Given the description of an element on the screen output the (x, y) to click on. 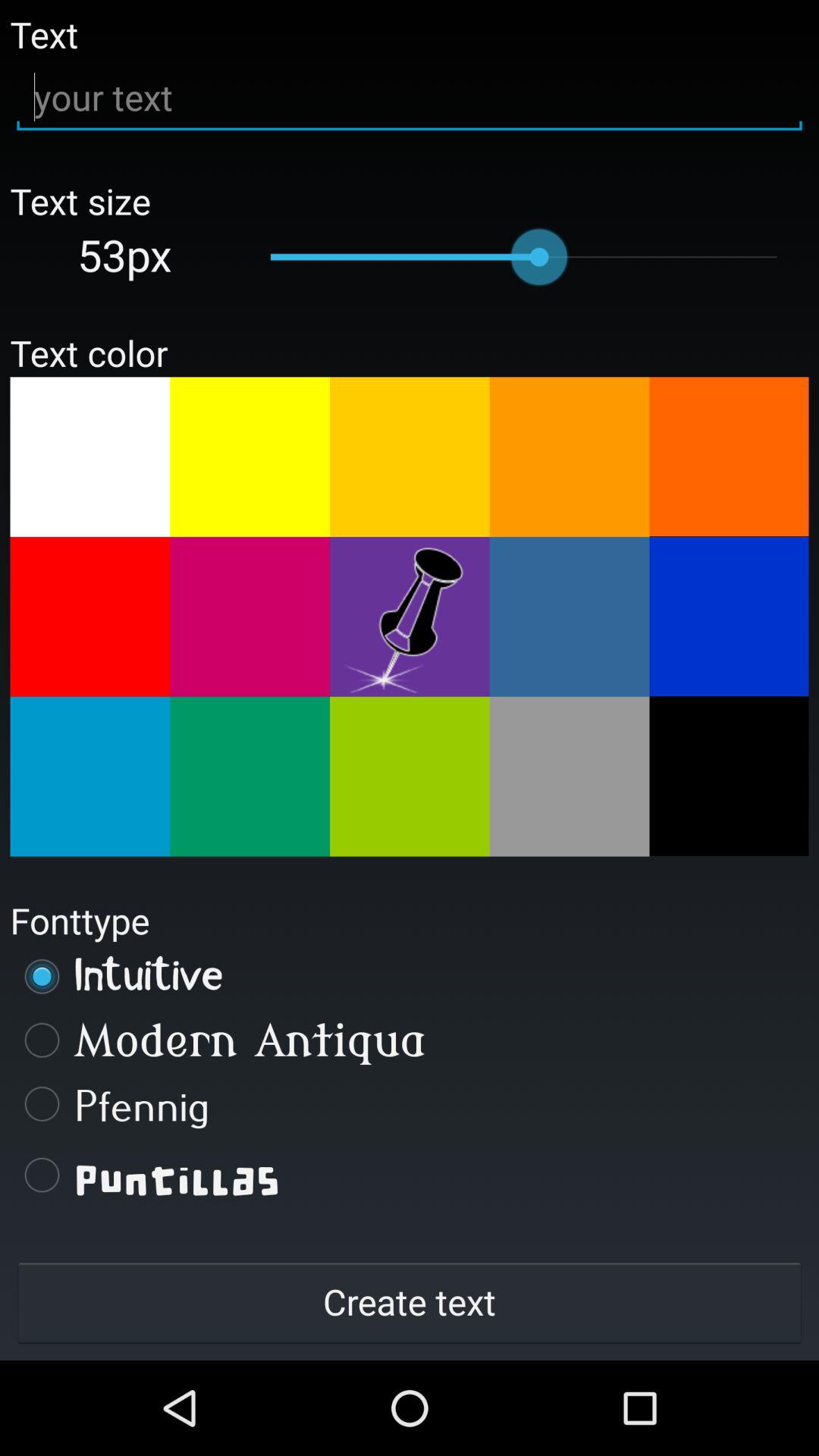
jump until pfennig item (409, 1103)
